Given the description of an element on the screen output the (x, y) to click on. 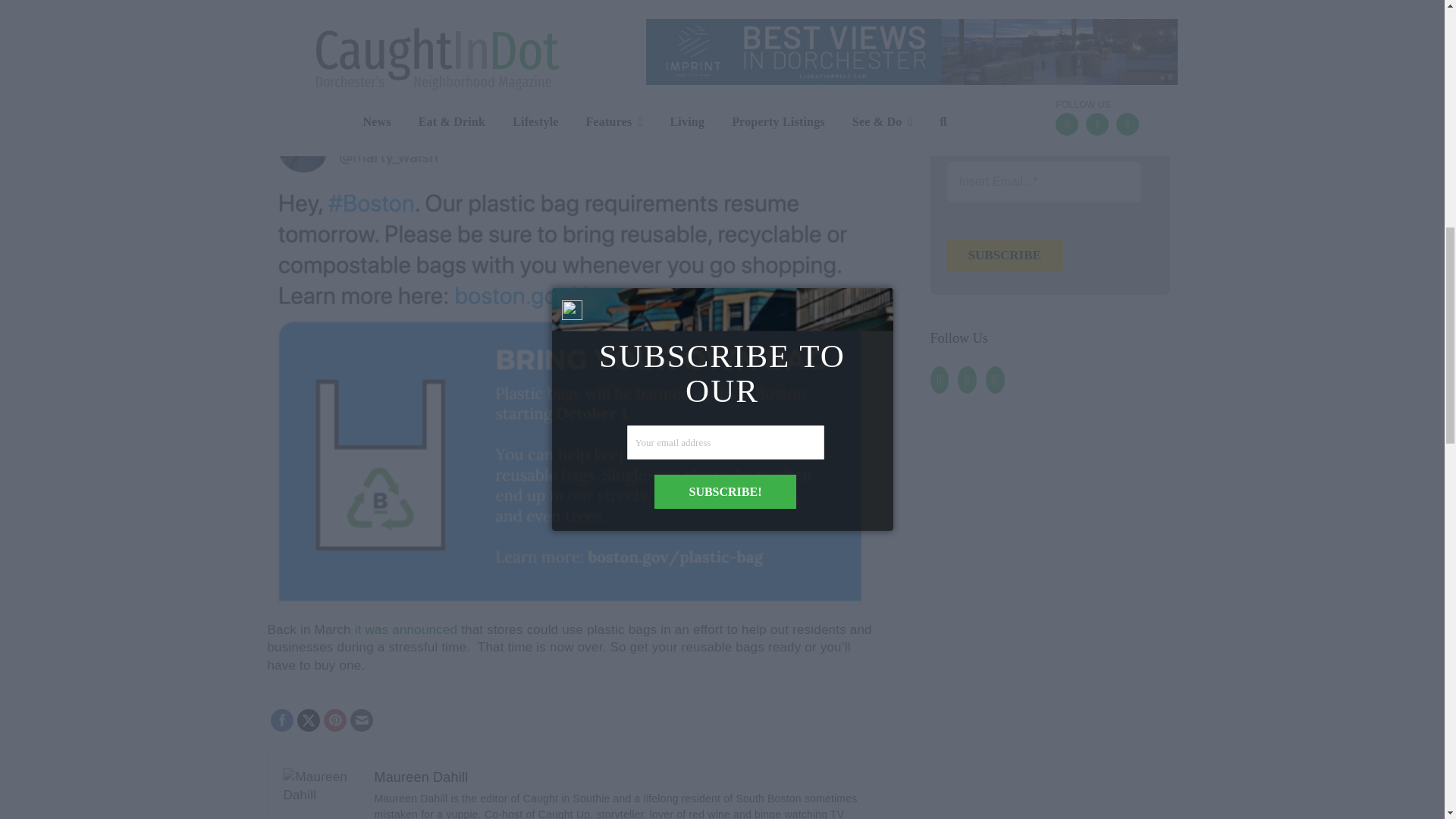
Subscribe (1004, 255)
Facebook (282, 720)
